Given the description of an element on the screen output the (x, y) to click on. 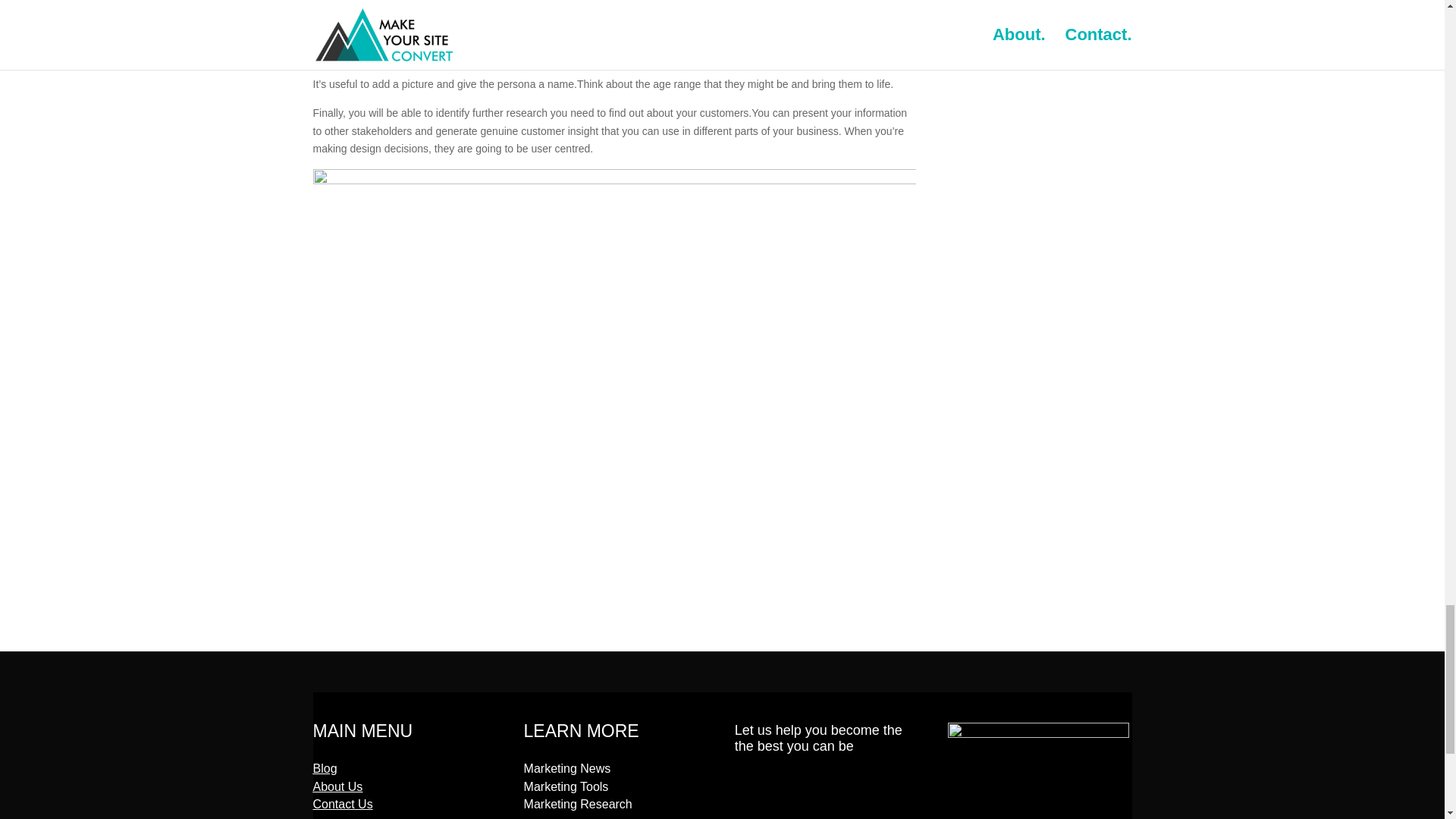
Blog (324, 768)
About Us (337, 786)
Contact Us (342, 803)
